Given the description of an element on the screen output the (x, y) to click on. 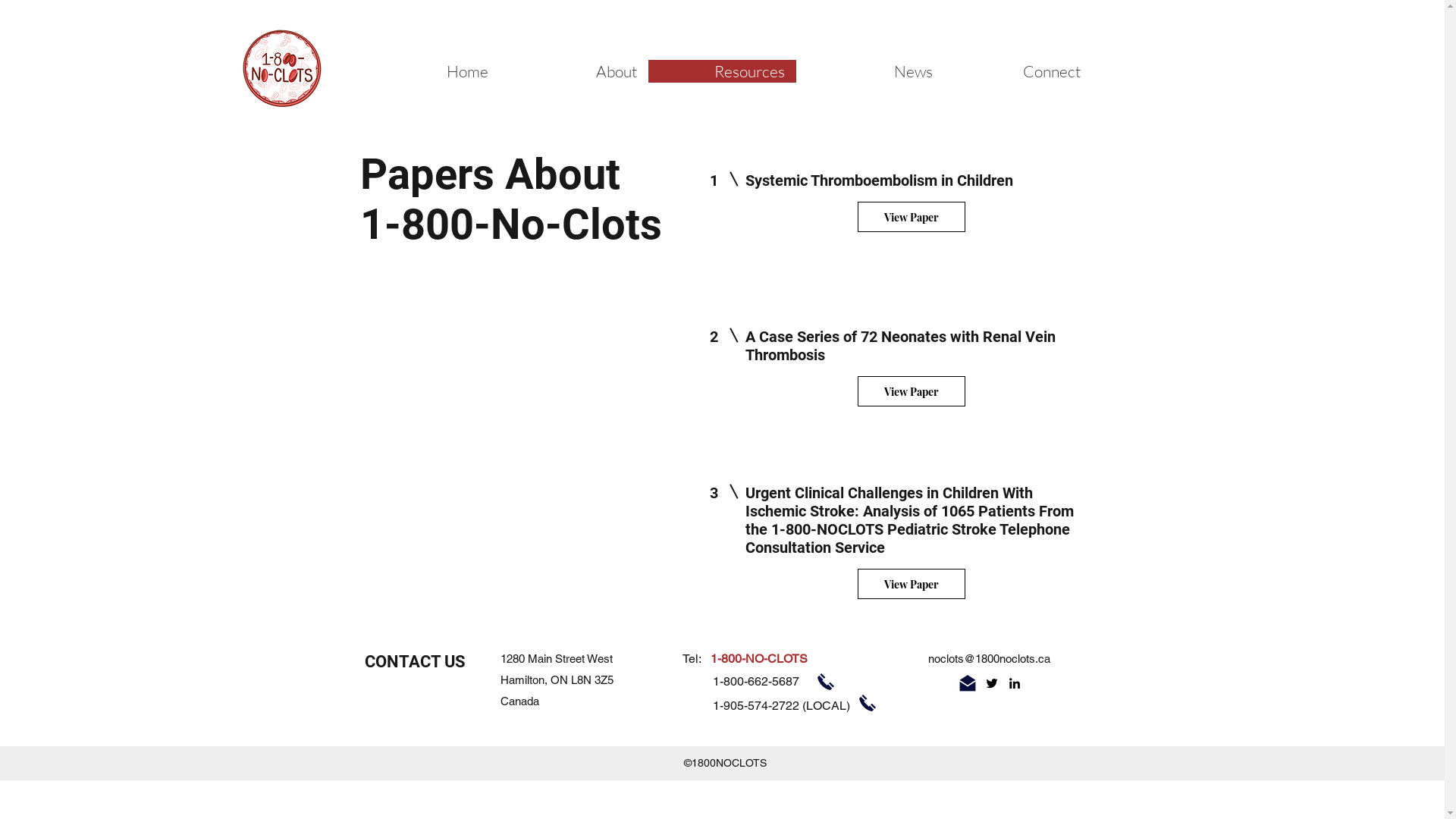
Resources Element type: text (721, 70)
View Paper Element type: text (910, 583)
View Paper Element type: text (910, 216)
View Paper Element type: text (910, 391)
noclots@1800noclots.ca Element type: text (989, 658)
Connect Element type: text (1017, 70)
News Element type: text (870, 70)
About Element type: text (572, 70)
Home Element type: text (424, 70)
